Given the description of an element on the screen output the (x, y) to click on. 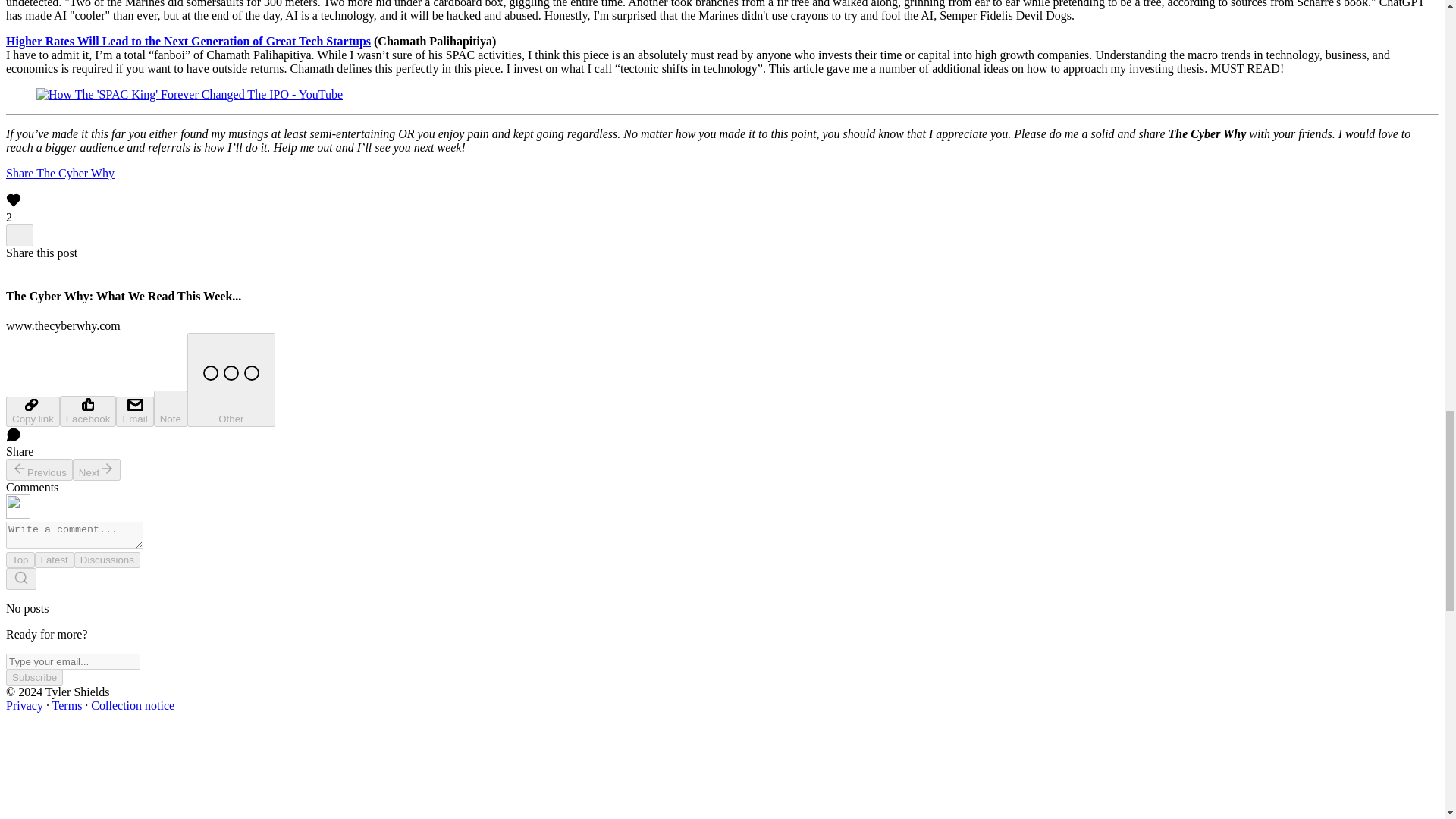
How The 'SPAC King' Forever Changed The IPO - YouTube (189, 94)
